Given the description of an element on the screen output the (x, y) to click on. 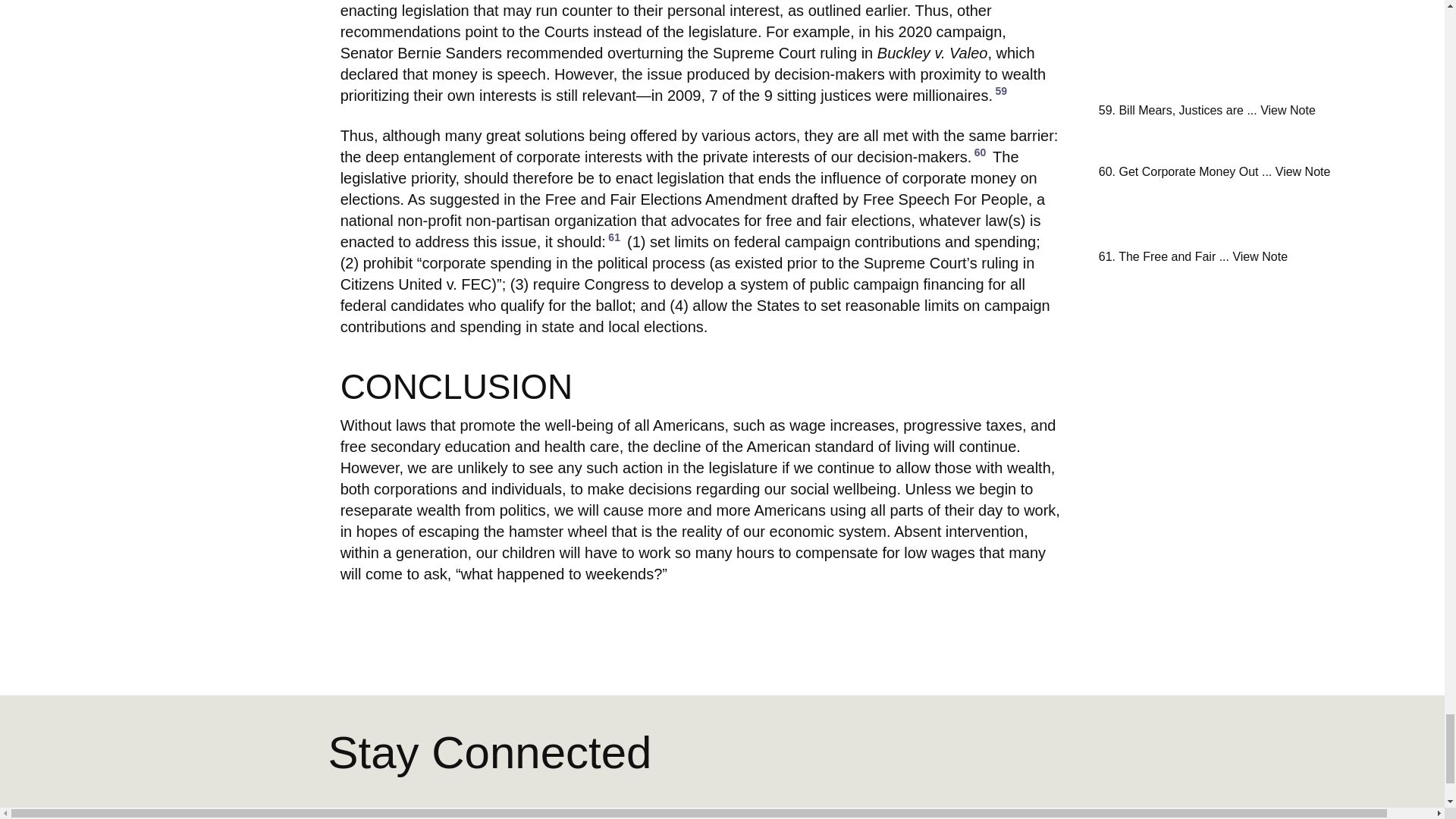
Facebook (1039, 814)
Twitter (1074, 816)
YouTube (1108, 813)
